Given the description of an element on the screen output the (x, y) to click on. 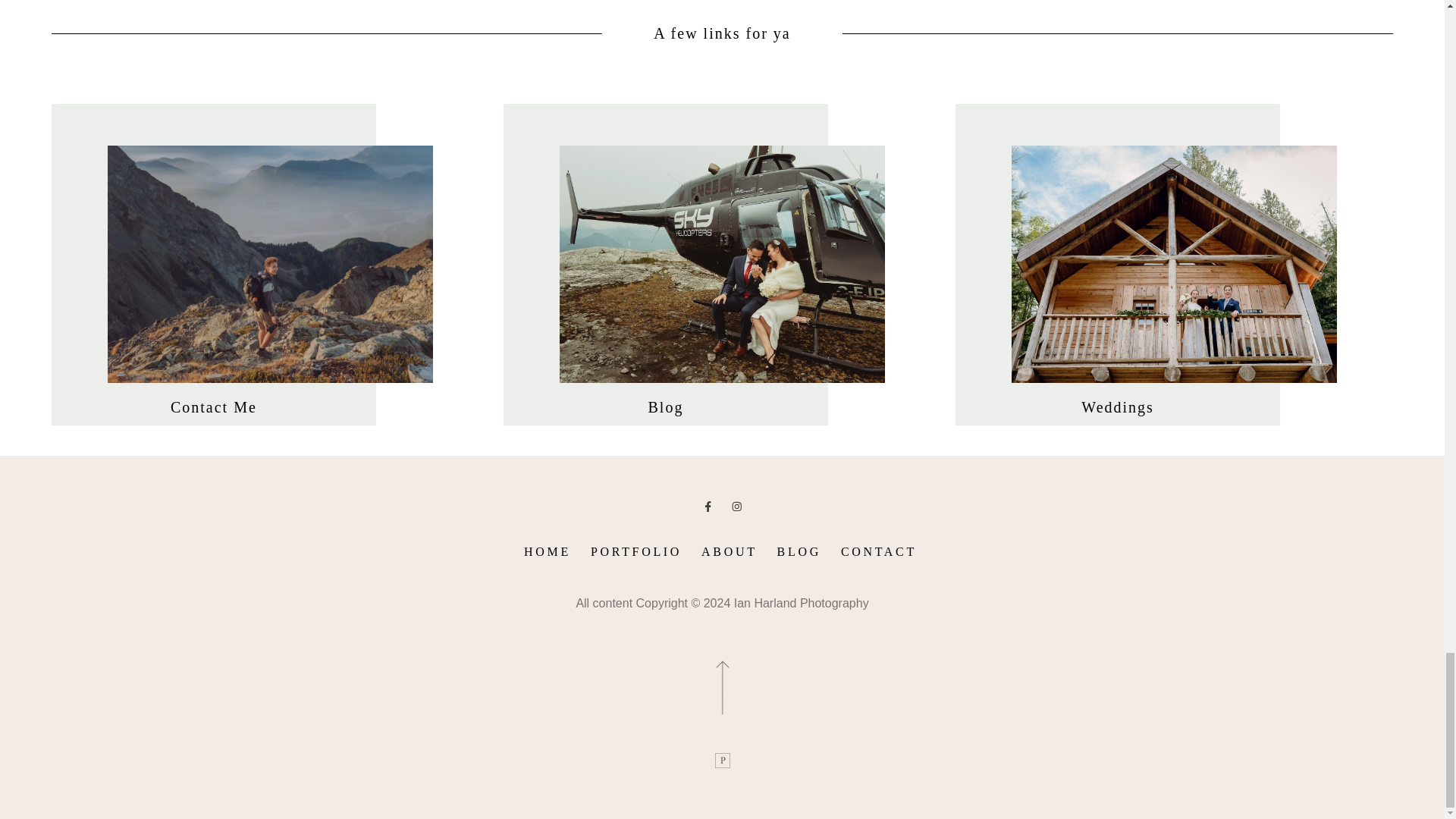
CONTACT (878, 551)
HOME (547, 551)
PORTFOLIO (636, 551)
ABOUT (728, 551)
Contact Me (213, 406)
BLOG (799, 551)
Blog (665, 406)
Weddings (1117, 406)
